Given the description of an element on the screen output the (x, y) to click on. 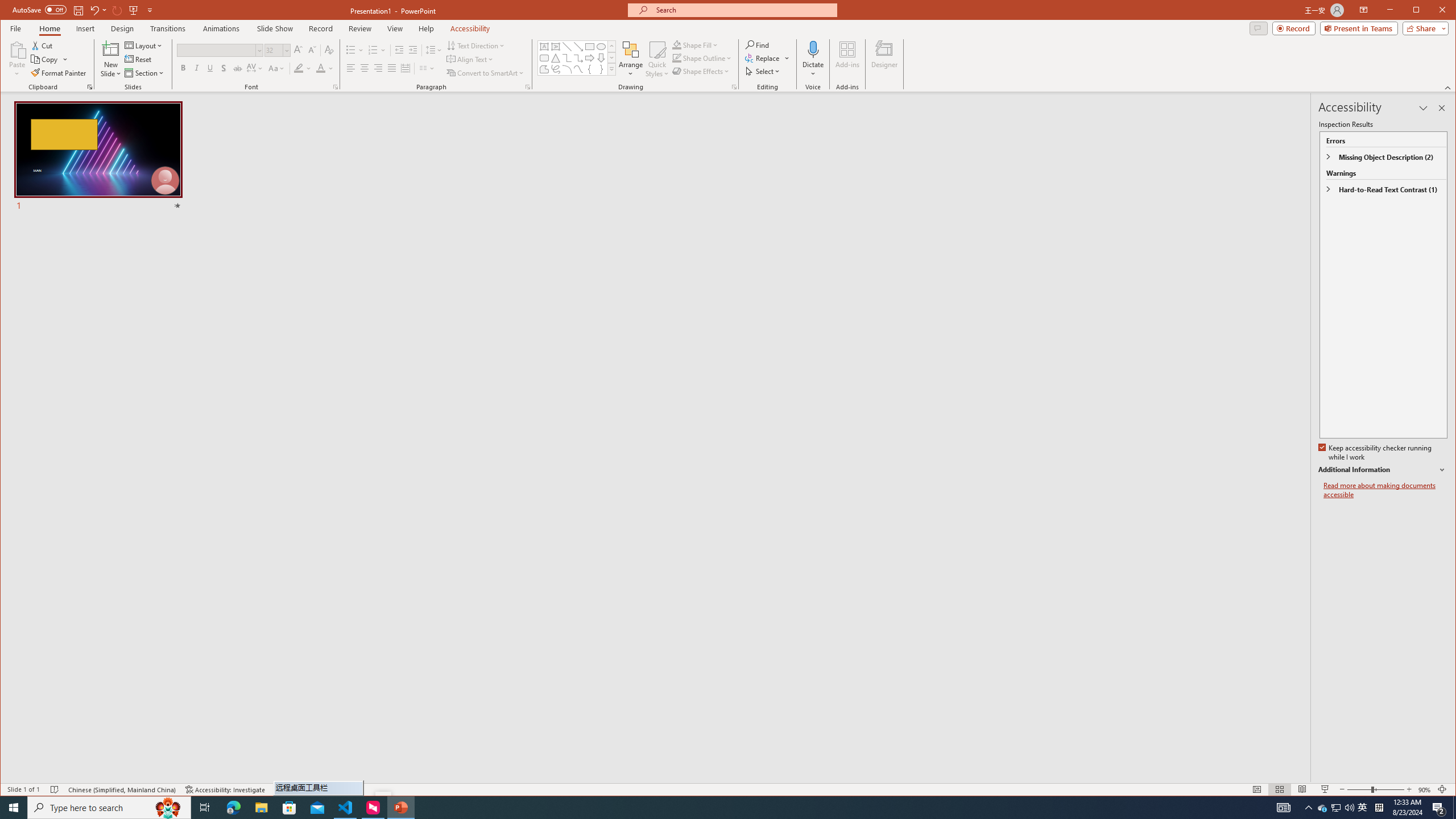
Select (763, 70)
Character Spacing (254, 68)
Arrange (631, 59)
Convert to SmartArt (485, 72)
Running applications (700, 807)
Align Left (350, 68)
